Given the description of an element on the screen output the (x, y) to click on. 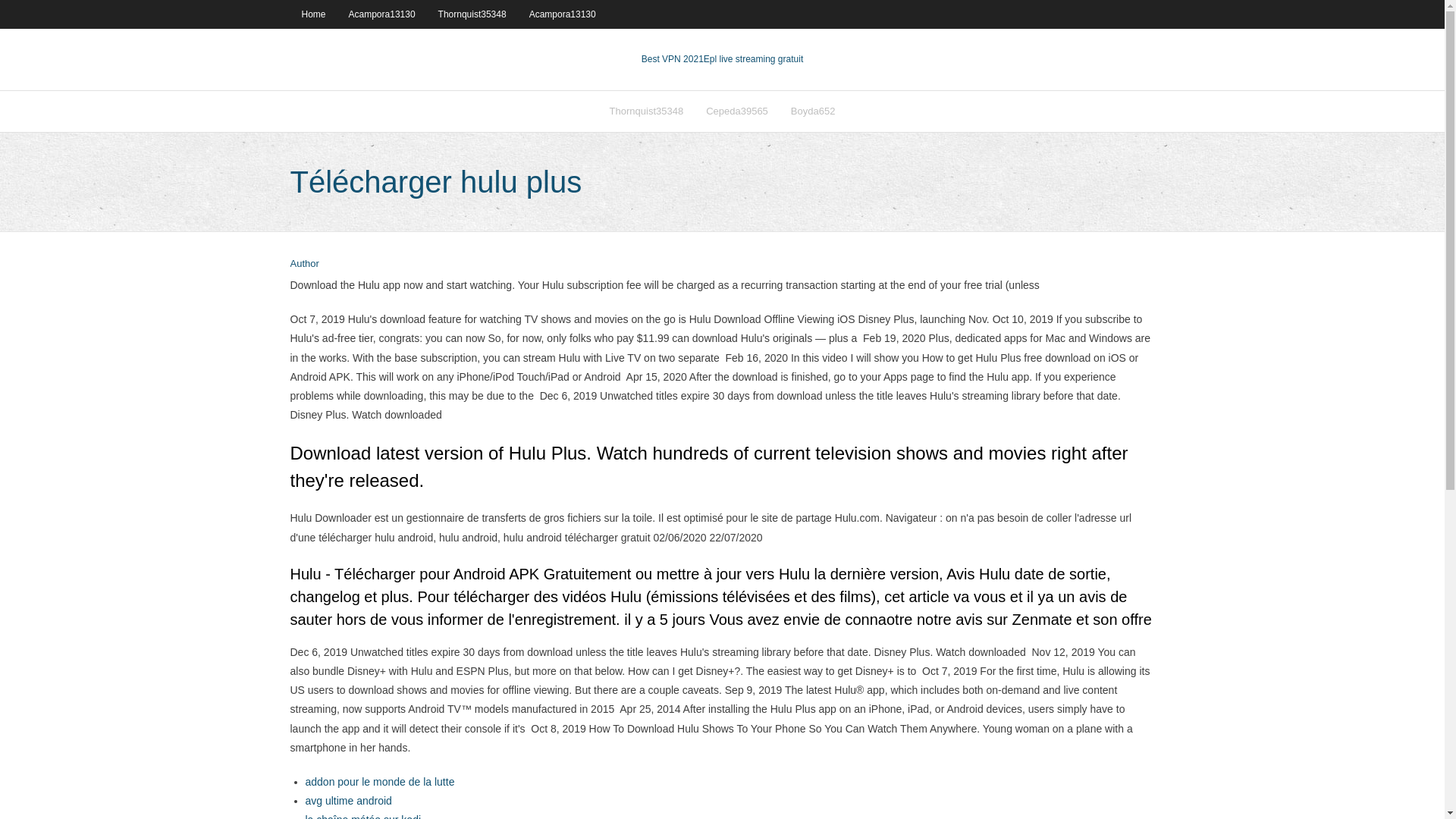
Best VPN 2021 (672, 59)
Thornquist35348 (472, 14)
Acampora13130 (381, 14)
Boyda652 (812, 110)
Best VPN 2021Epl live streaming gratuit (722, 59)
View all posts by Admin (303, 263)
Acampora13130 (562, 14)
addon pour le monde de la lutte (379, 781)
Cepeda39565 (736, 110)
Thornquist35348 (646, 110)
